Given the description of an element on the screen output the (x, y) to click on. 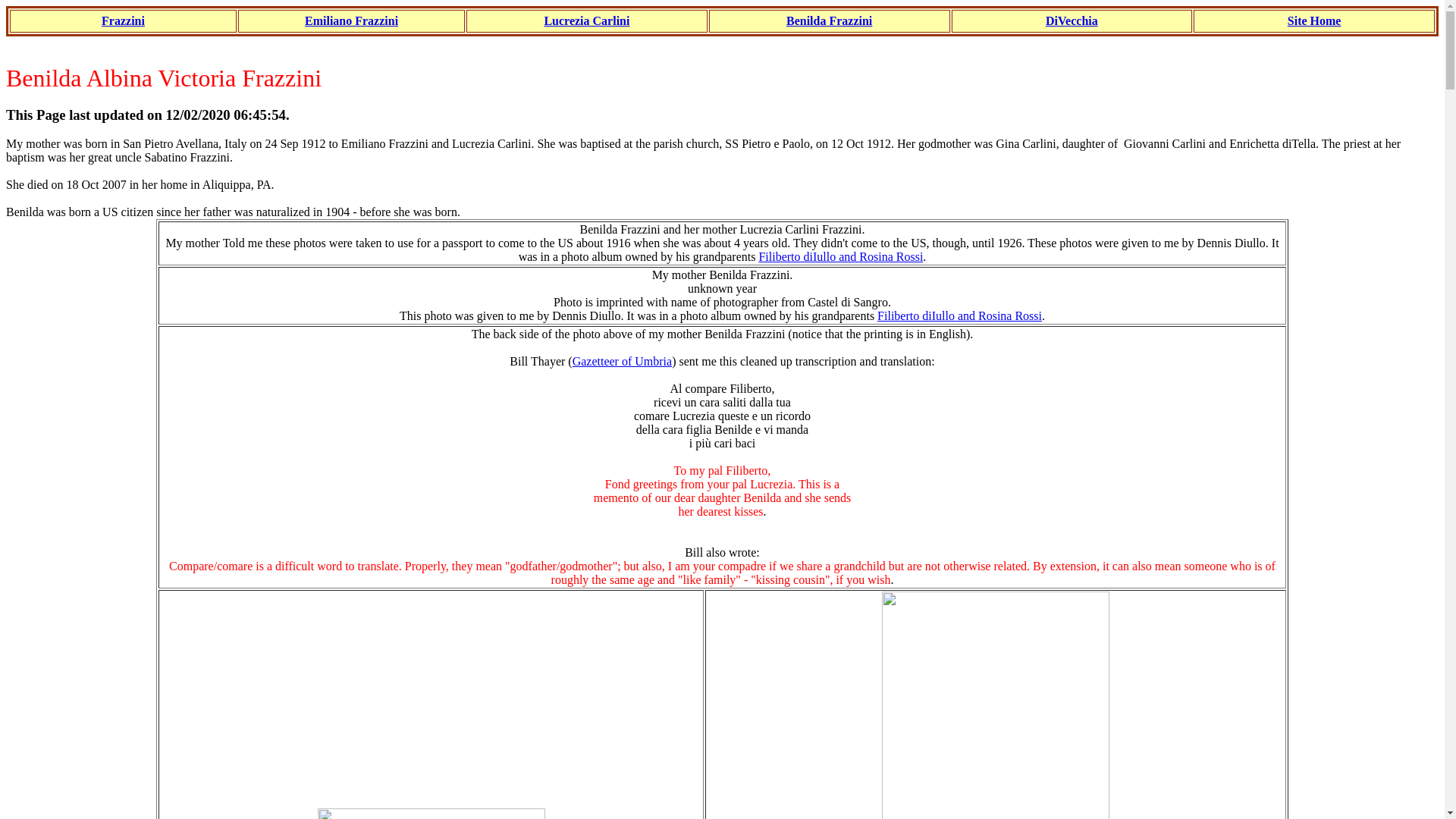
DiVecchia (1071, 20)
Benilda Frazzini (829, 20)
Gazetteer of Umbria (621, 360)
Lucrezia Carlini (585, 20)
Filiberto diIullo and Rosina Rossi (959, 315)
Emiliano Frazzini (350, 20)
Filiberto diIullo and Rosina Rossi (840, 256)
Frazzini (122, 20)
Site Home (1313, 20)
